Given the description of an element on the screen output the (x, y) to click on. 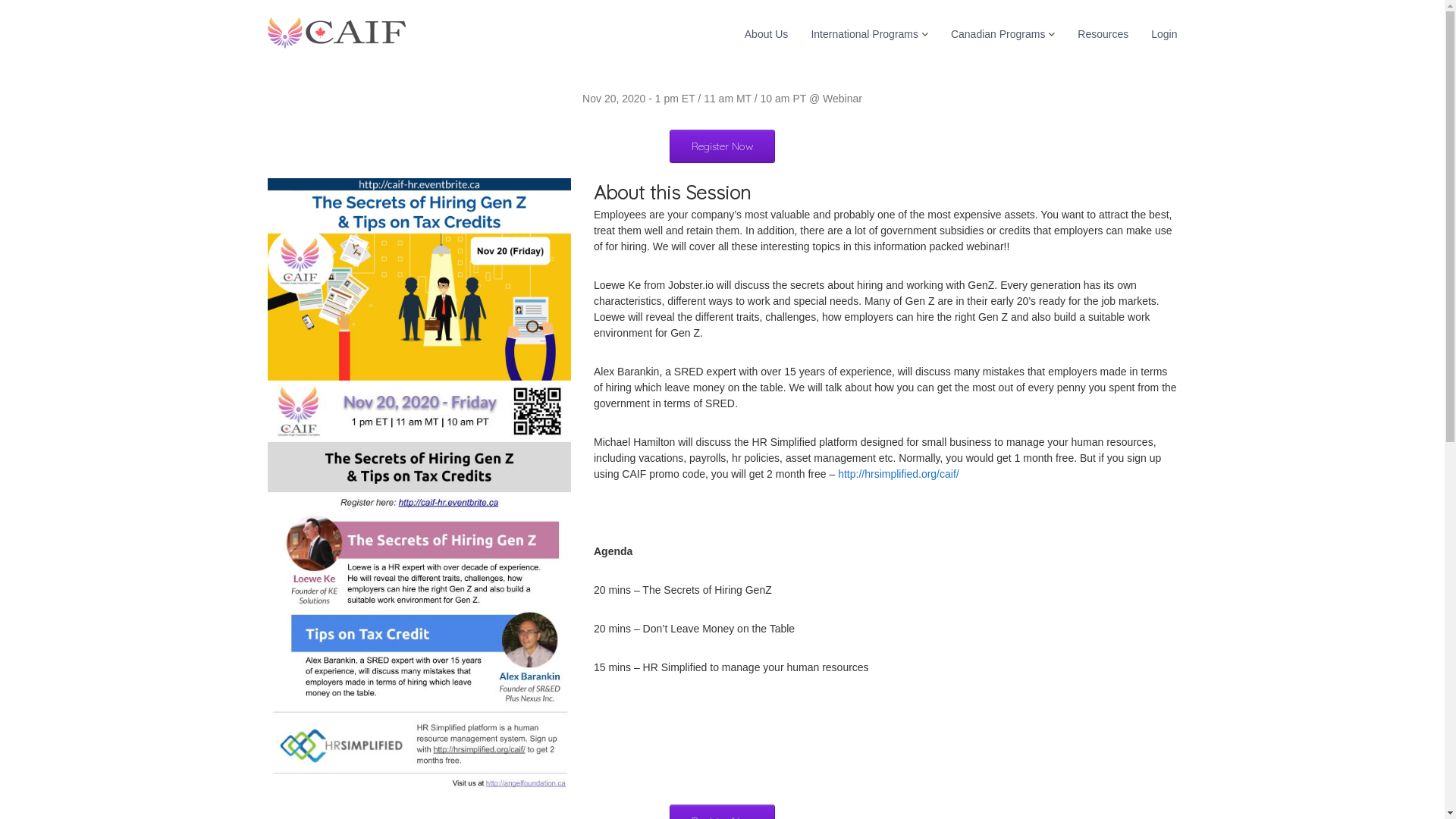
International Programs Element type: text (864, 33)
Canadian Programs Element type: text (997, 33)
http://hrsimplified.org/caif/ Element type: text (898, 473)
Login Element type: text (1163, 33)
Resources Element type: text (1102, 33)
About Us Element type: text (766, 33)
Register Now Element type: text (722, 146)
